Given the description of an element on the screen output the (x, y) to click on. 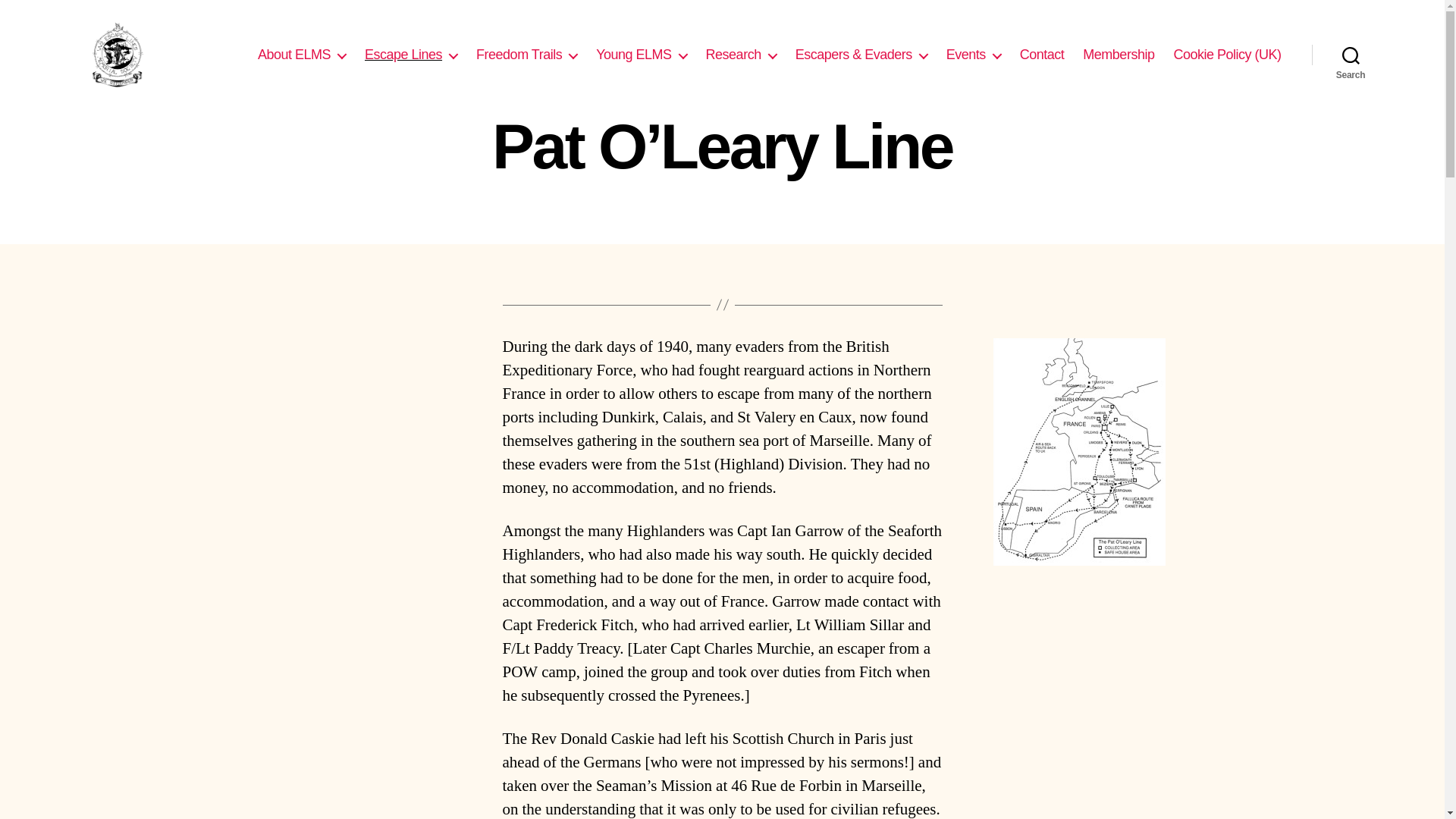
Freedom Trails (526, 54)
About ELMS (301, 54)
Escape Lines (411, 54)
